Given the description of an element on the screen output the (x, y) to click on. 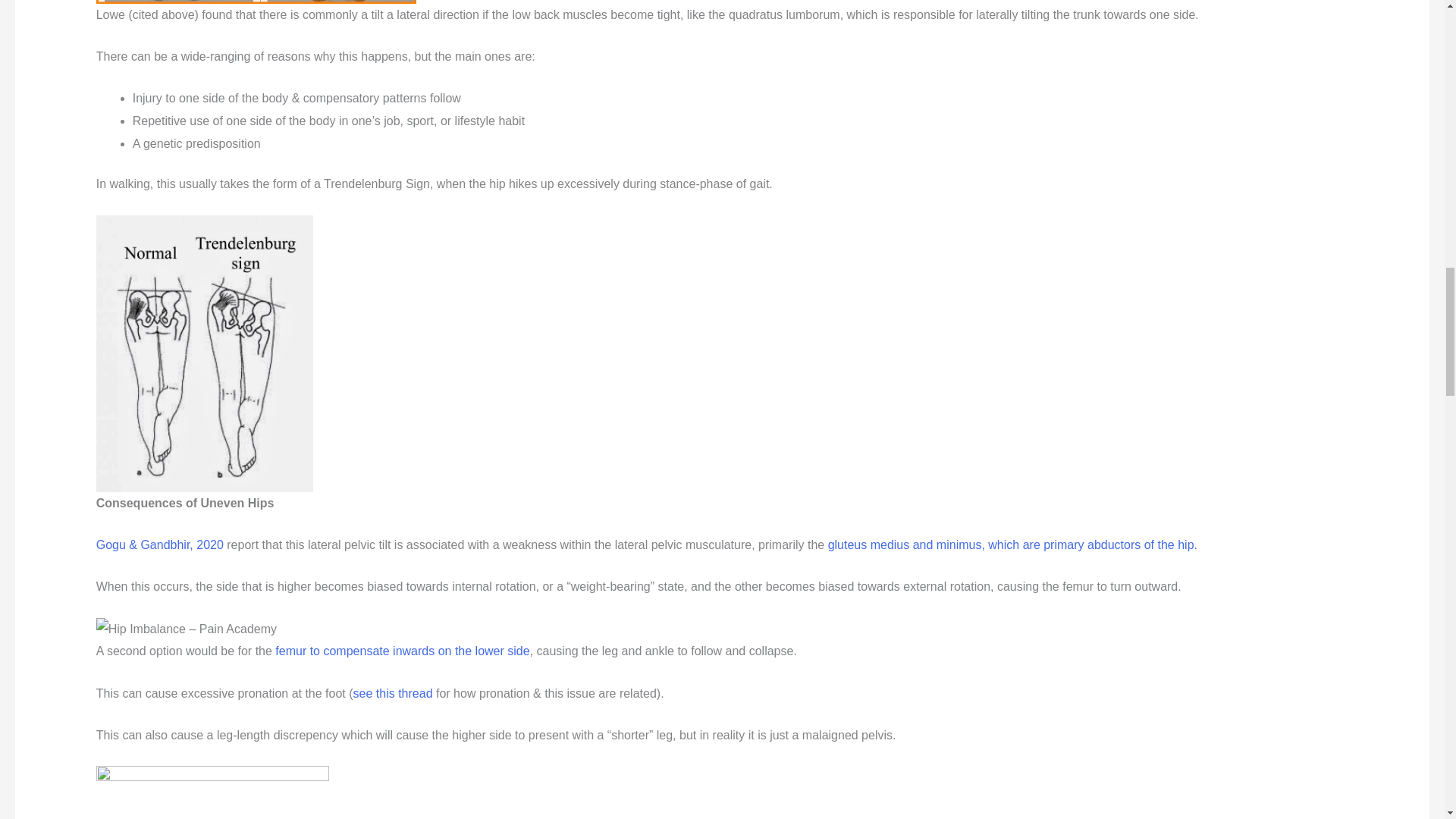
see this thread (392, 693)
femur to compensate inwards on the lower side (402, 650)
